Given the description of an element on the screen output the (x, y) to click on. 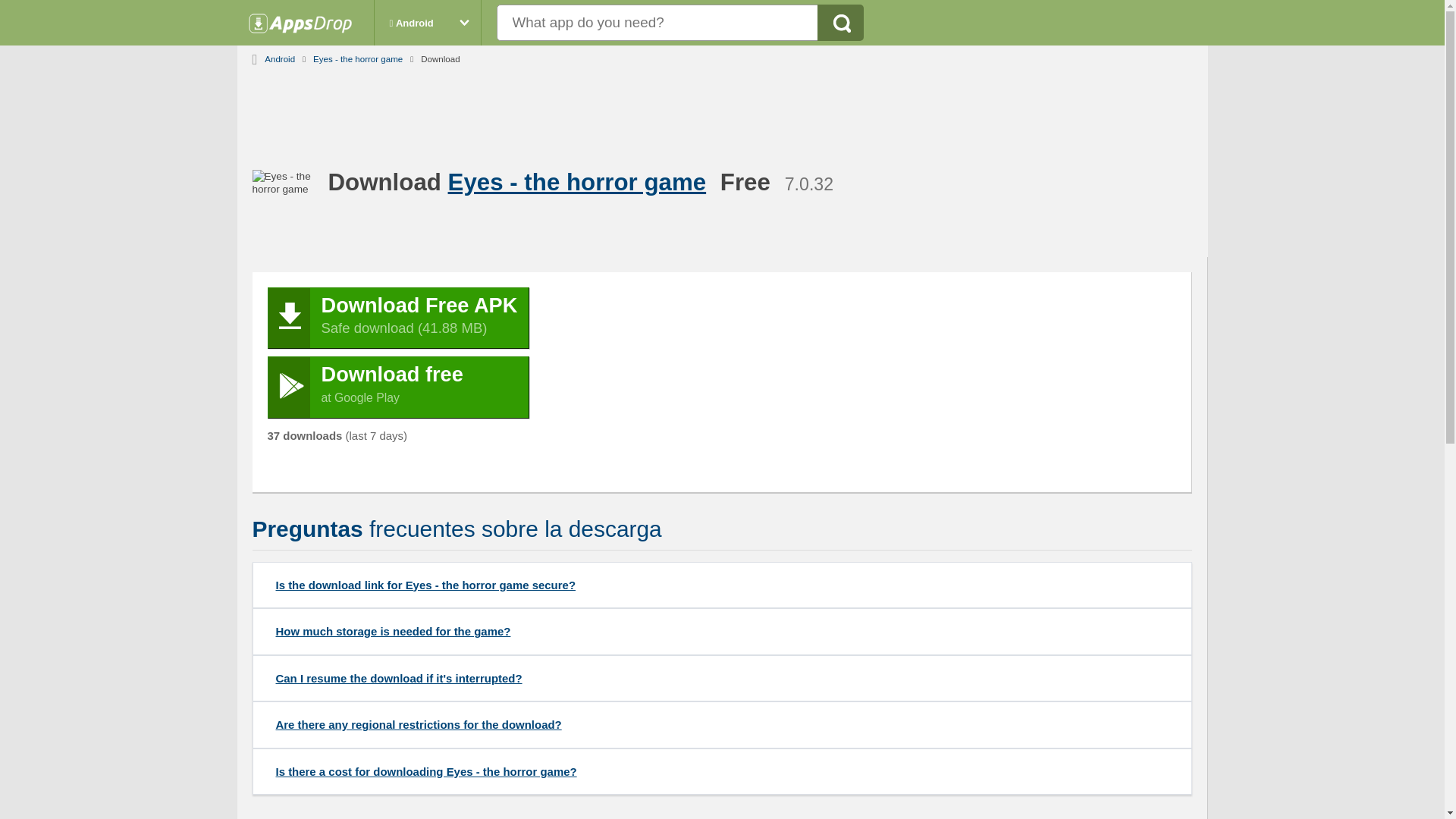
Advertisement (722, 109)
eyes horror game: Software of Scary and horror games (357, 55)
eyes horror game: Software of Scary and horror games (581, 182)
AppsDrop (307, 26)
Advertisement (733, 381)
Eyes - the horror game (357, 55)
Android (279, 55)
Eyes - the horror game (397, 387)
